Given the description of an element on the screen output the (x, y) to click on. 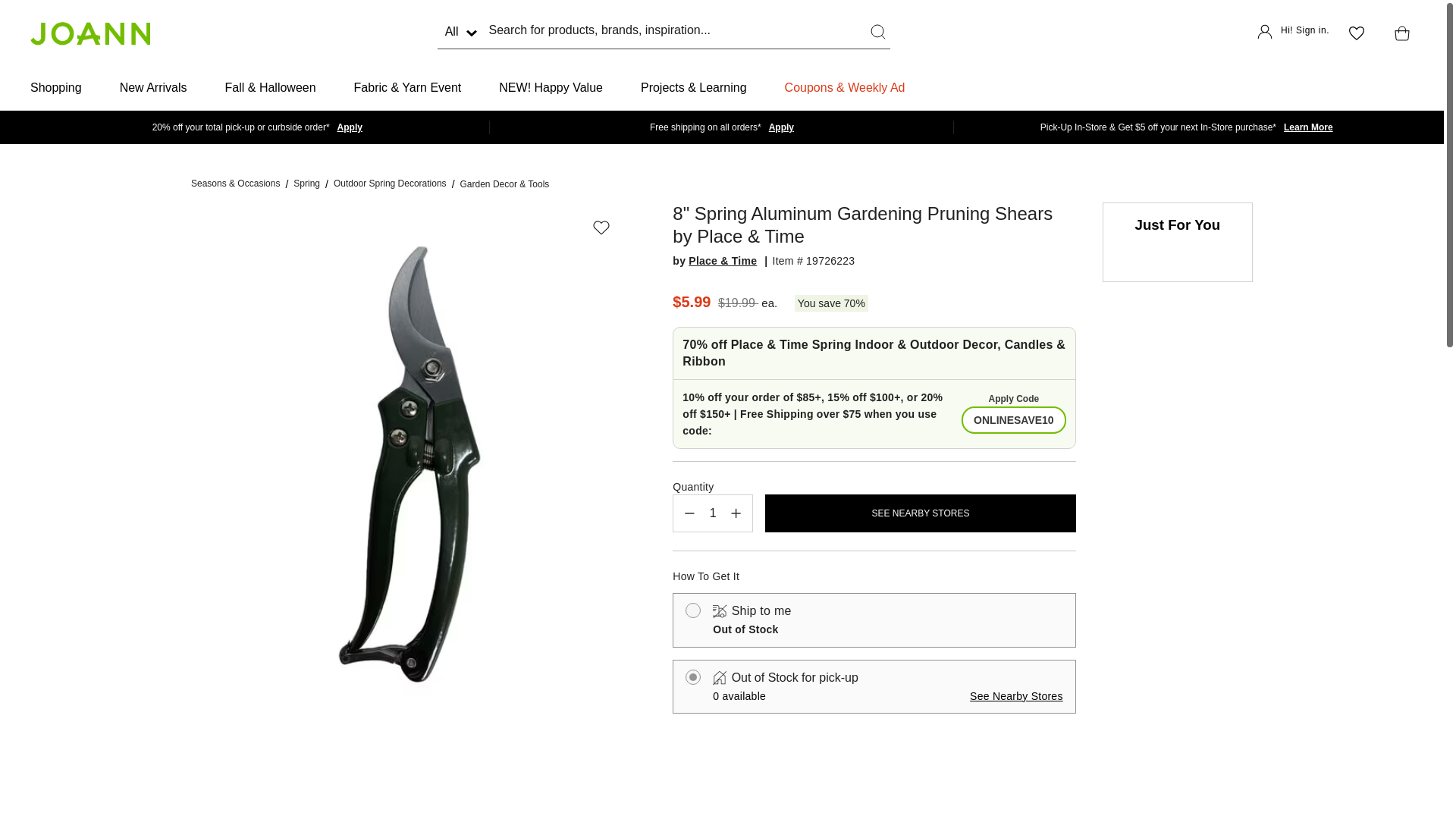
1 (712, 513)
Outdoor Spring Decorations (389, 183)
Hi! Sign in. (1293, 33)
Shopping (55, 87)
Hi! Sign in. (1293, 33)
New Arrivals (153, 87)
Favorites (1356, 33)
View Cart (1398, 33)
NEW! Happy Value (550, 87)
JO-ANN STORES, LLC Home (89, 33)
Spring (307, 183)
